Given the description of an element on the screen output the (x, y) to click on. 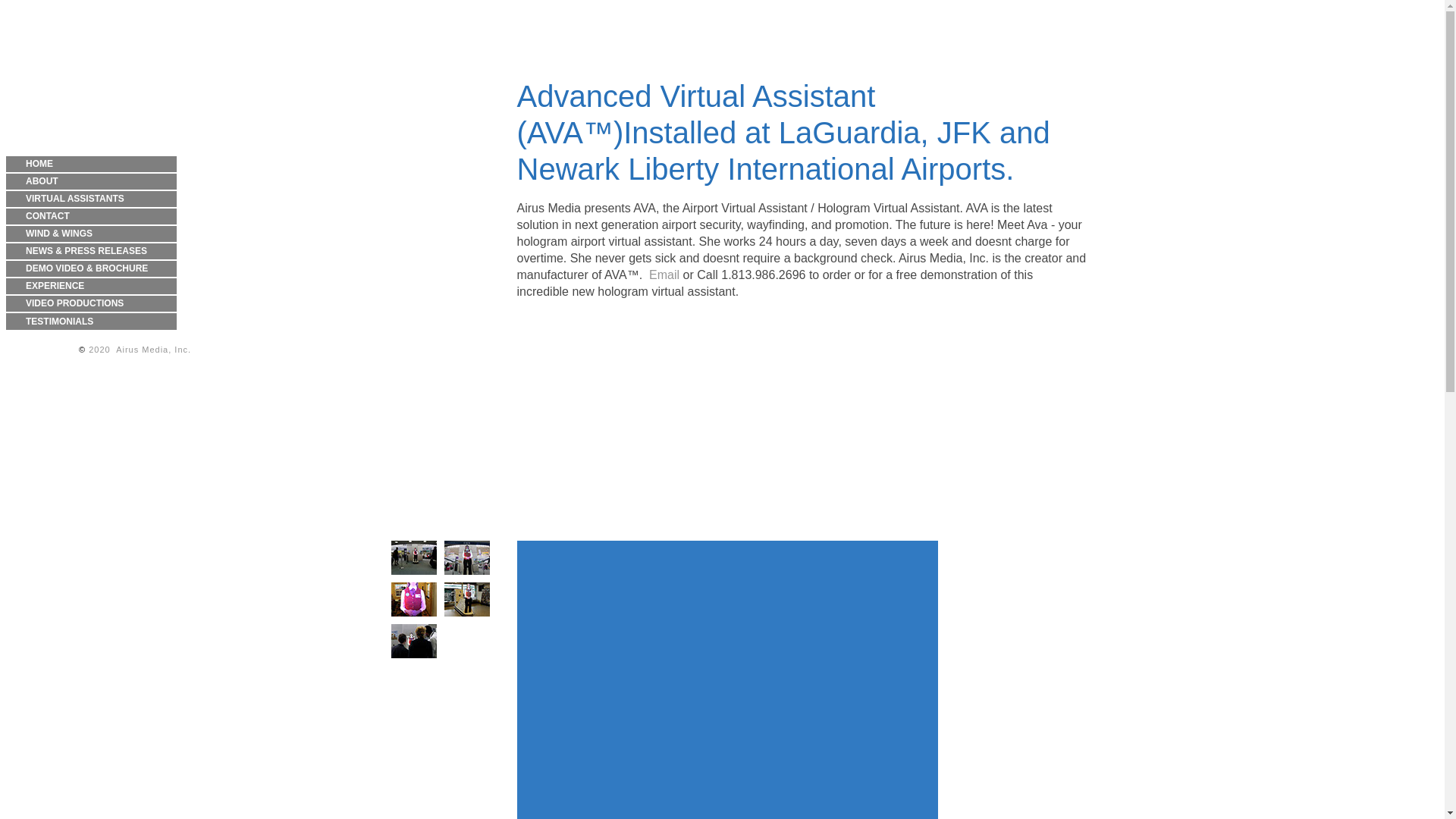
ABOUT (90, 181)
email (92, 367)
Email (664, 274)
VIRTUAL ASSISTANTS (90, 198)
TESTIMONIALS (90, 321)
VIDEO PRODUCTIONS (90, 303)
HOME (90, 163)
CONTACT (90, 216)
EXPERIENCE (90, 286)
